Given the description of an element on the screen output the (x, y) to click on. 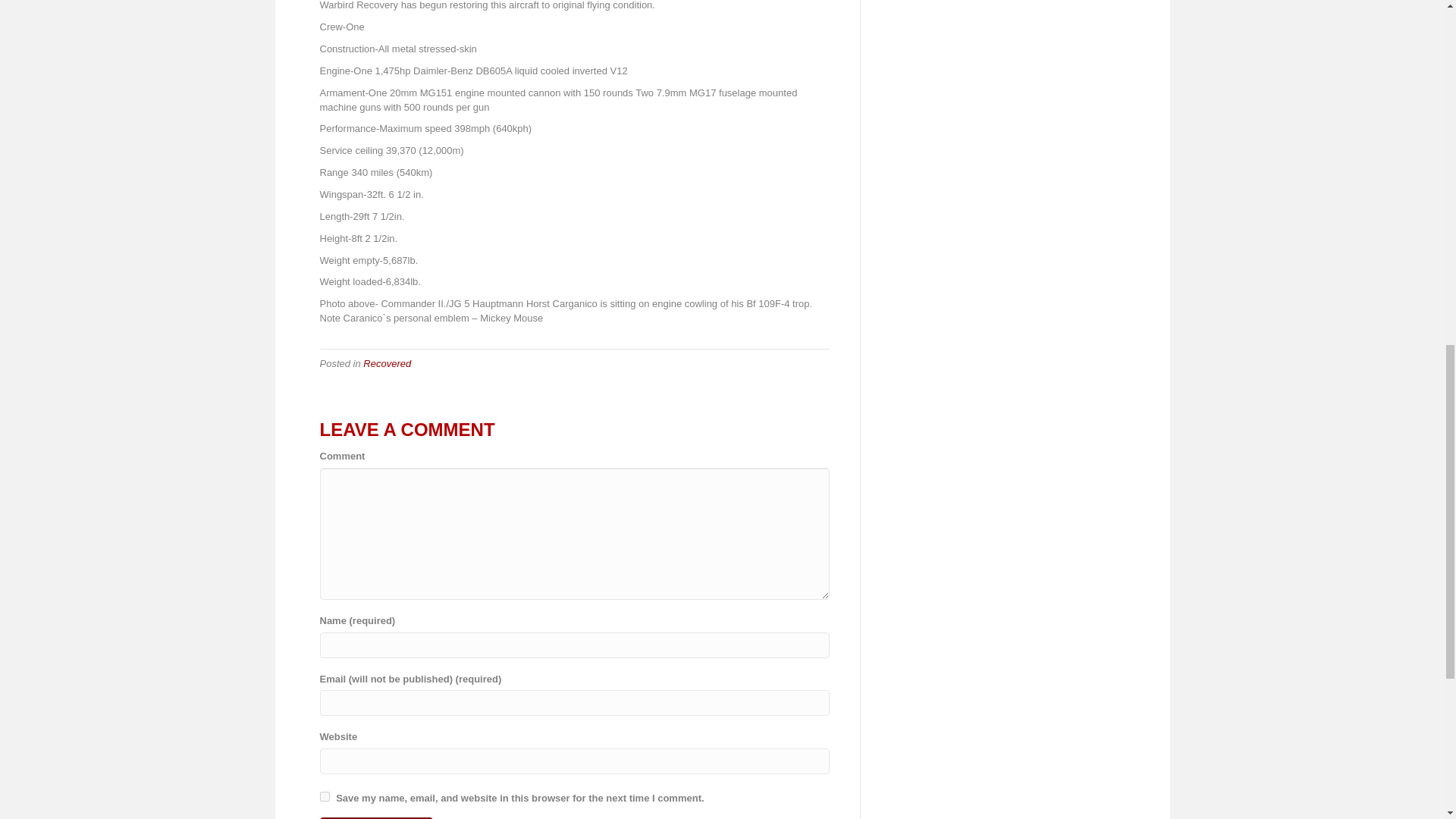
yes (325, 796)
Submit Comment (376, 818)
Recovered (386, 363)
Submit Comment (376, 818)
